Given the description of an element on the screen output the (x, y) to click on. 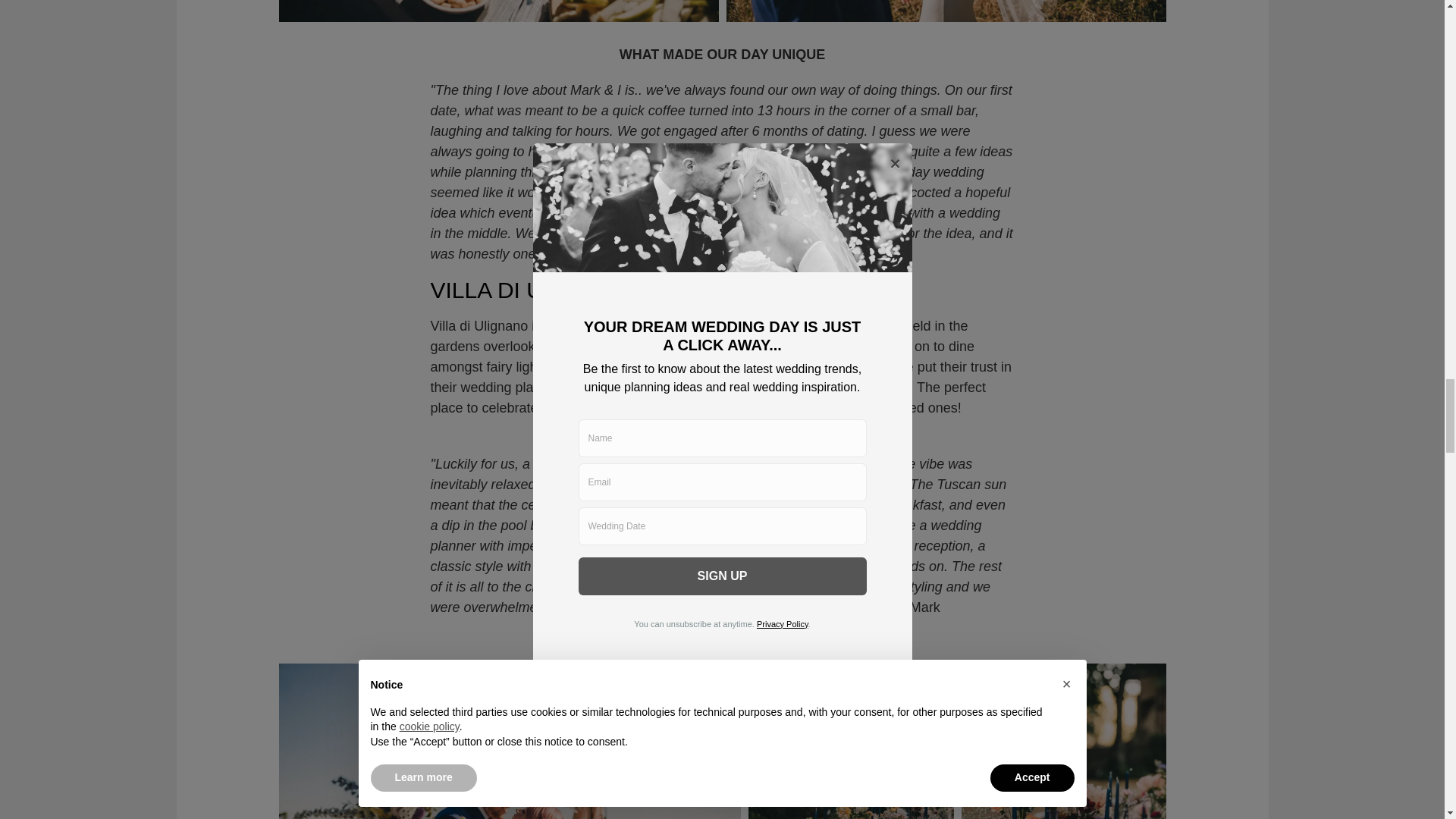
Weddings in Tuscany (631, 387)
